Given the description of an element on the screen output the (x, y) to click on. 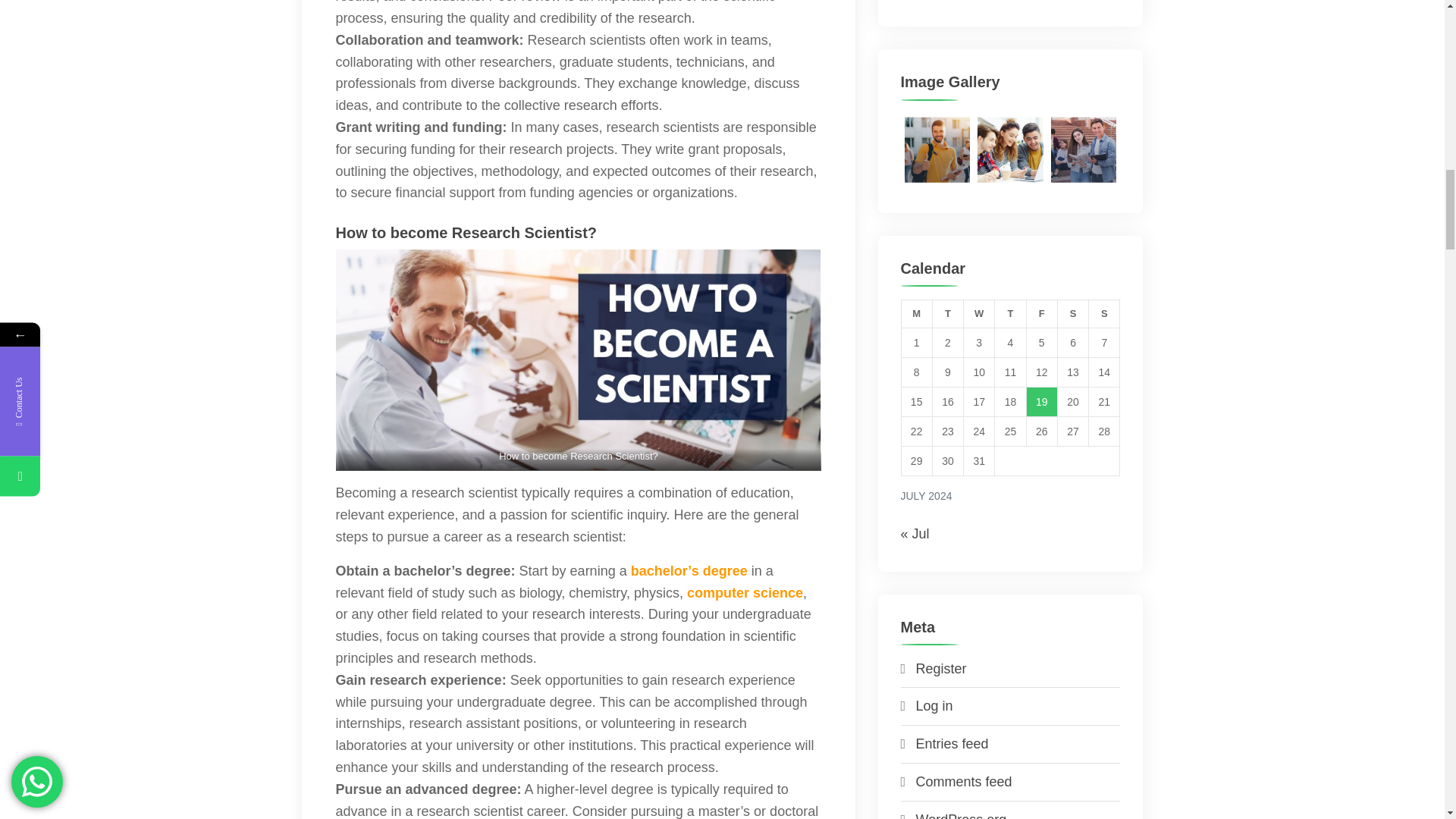
Monday (916, 313)
Tuesday (946, 313)
